Given the description of an element on the screen output the (x, y) to click on. 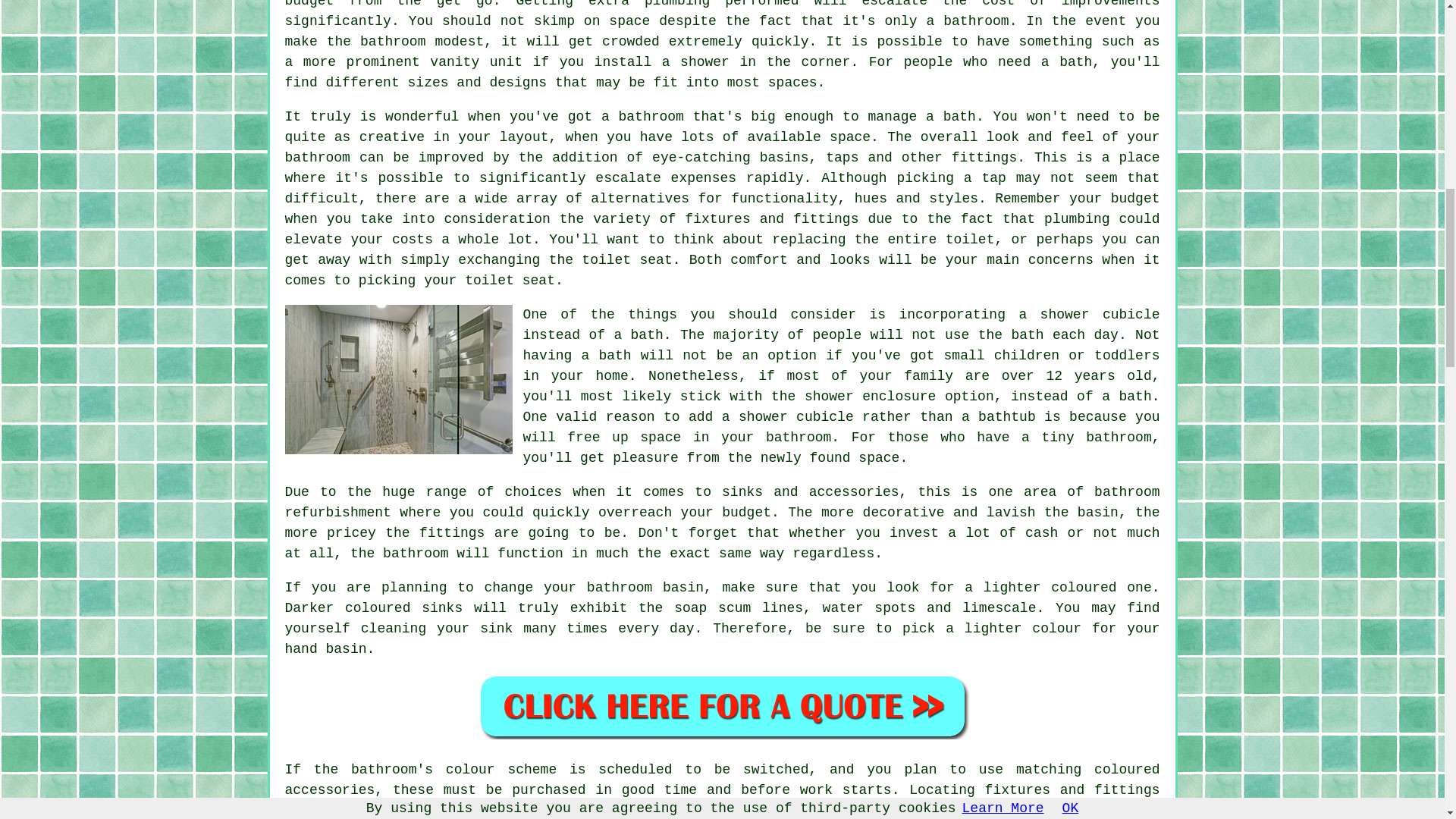
Bathroom Installation Quotes in Biggleswade Bedfordshire (722, 706)
